Given the description of an element on the screen output the (x, y) to click on. 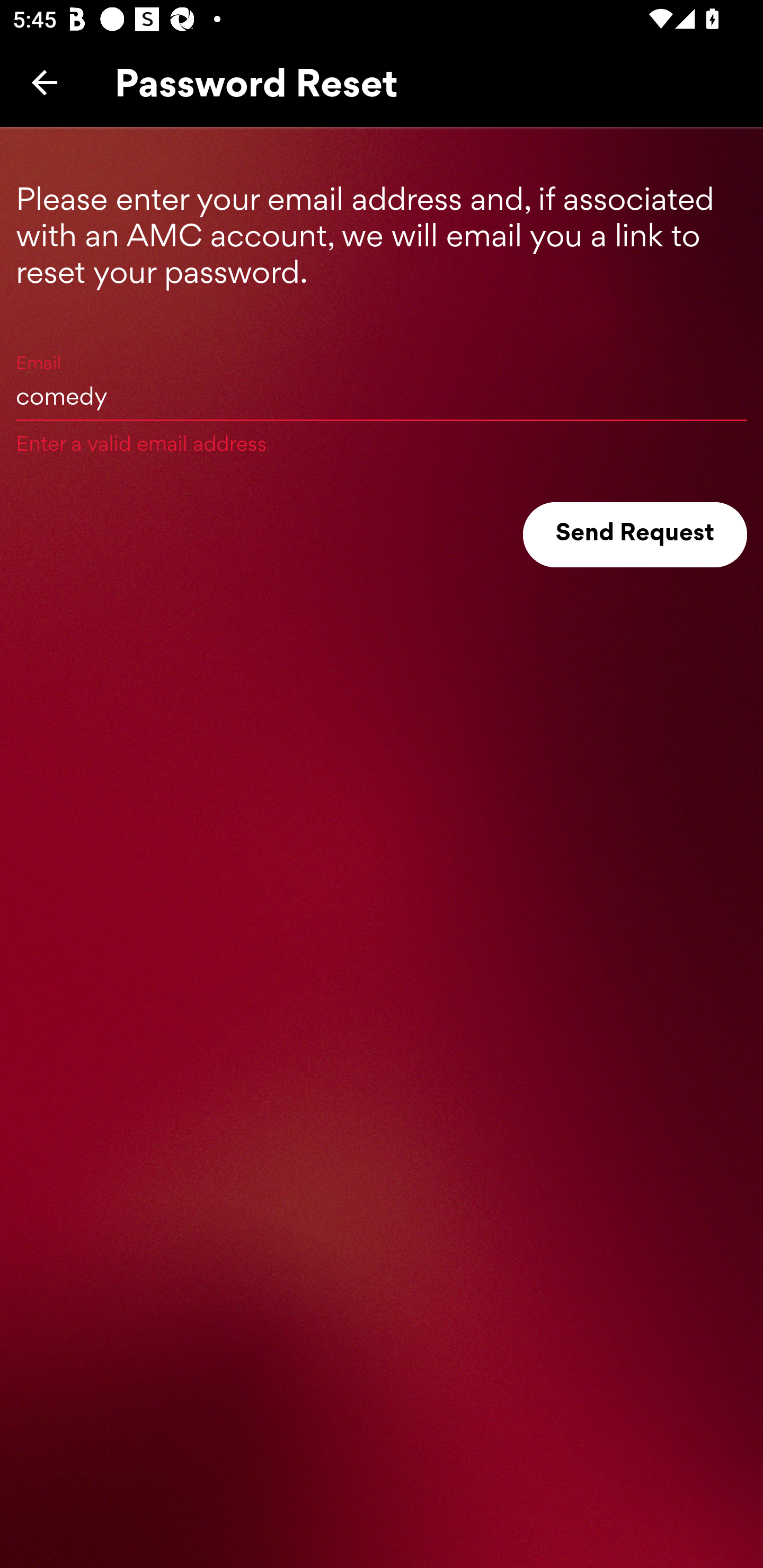
Back (44, 82)
comedy Enter a valid email address (381, 394)
Send Request (634, 535)
